Given the description of an element on the screen output the (x, y) to click on. 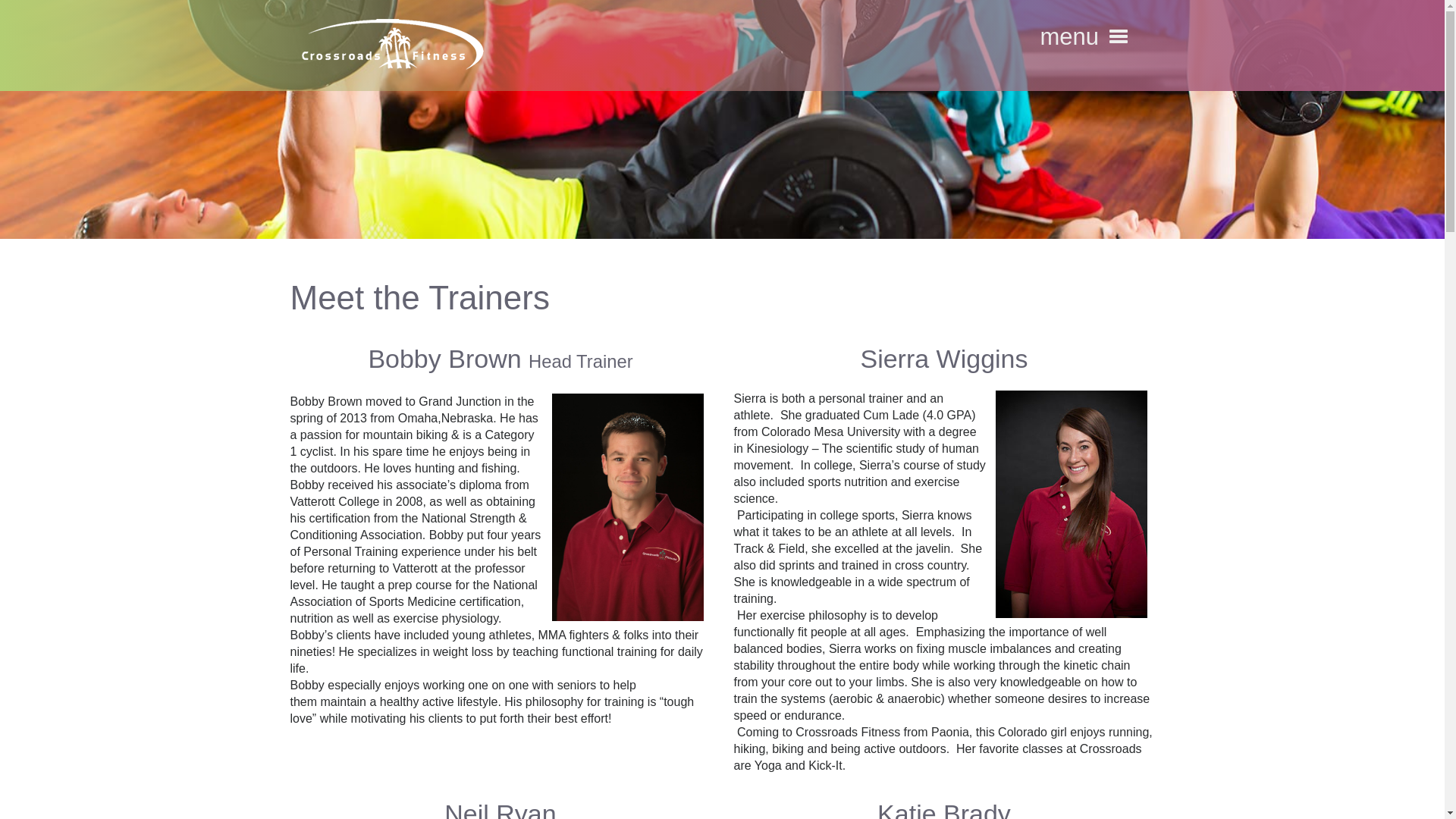
Toggle navigation (1117, 36)
